Given the description of an element on the screen output the (x, y) to click on. 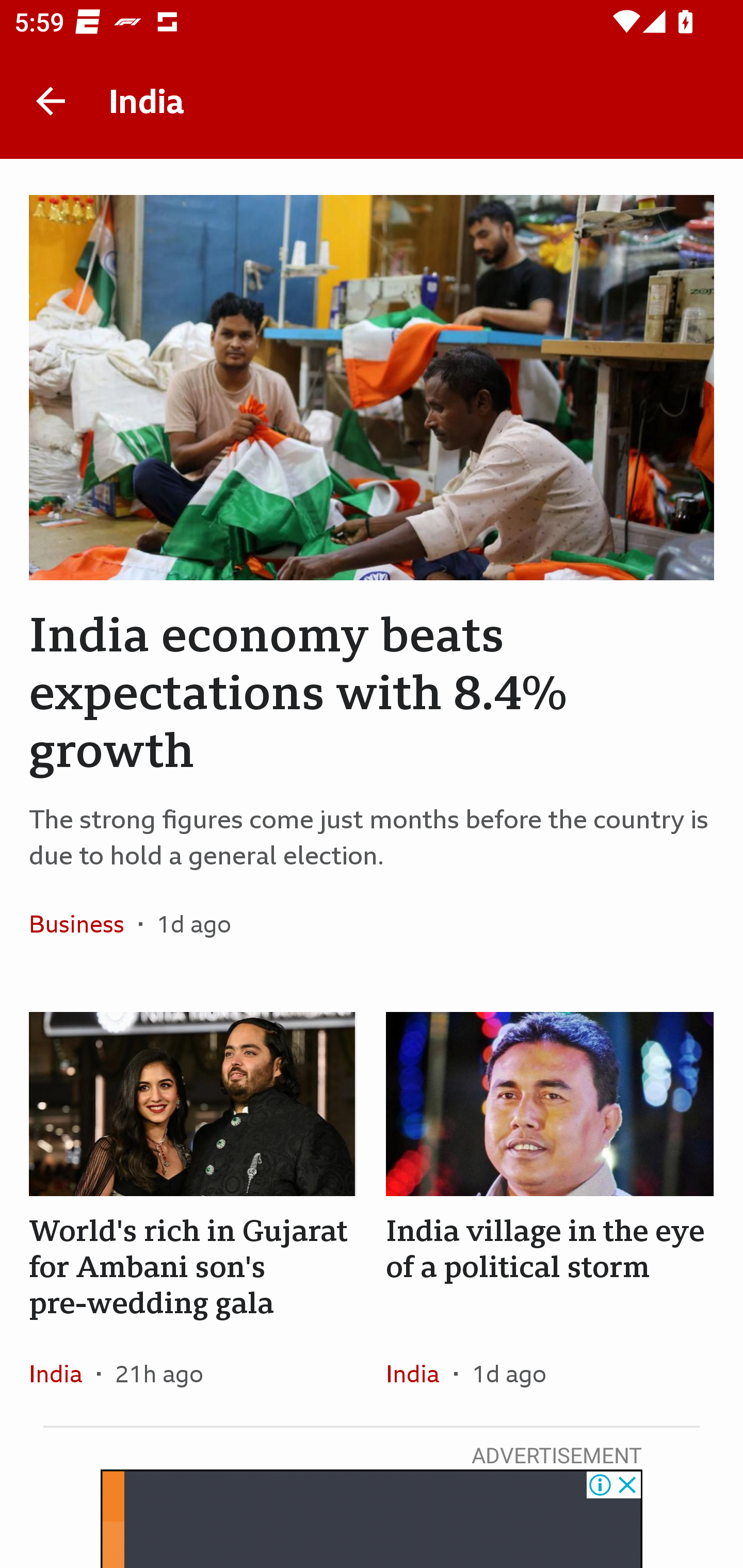
Back (50, 101)
Business In the section Business (83, 923)
India In the section India (62, 1373)
India In the section India (419, 1373)
